Given the description of an element on the screen output the (x, y) to click on. 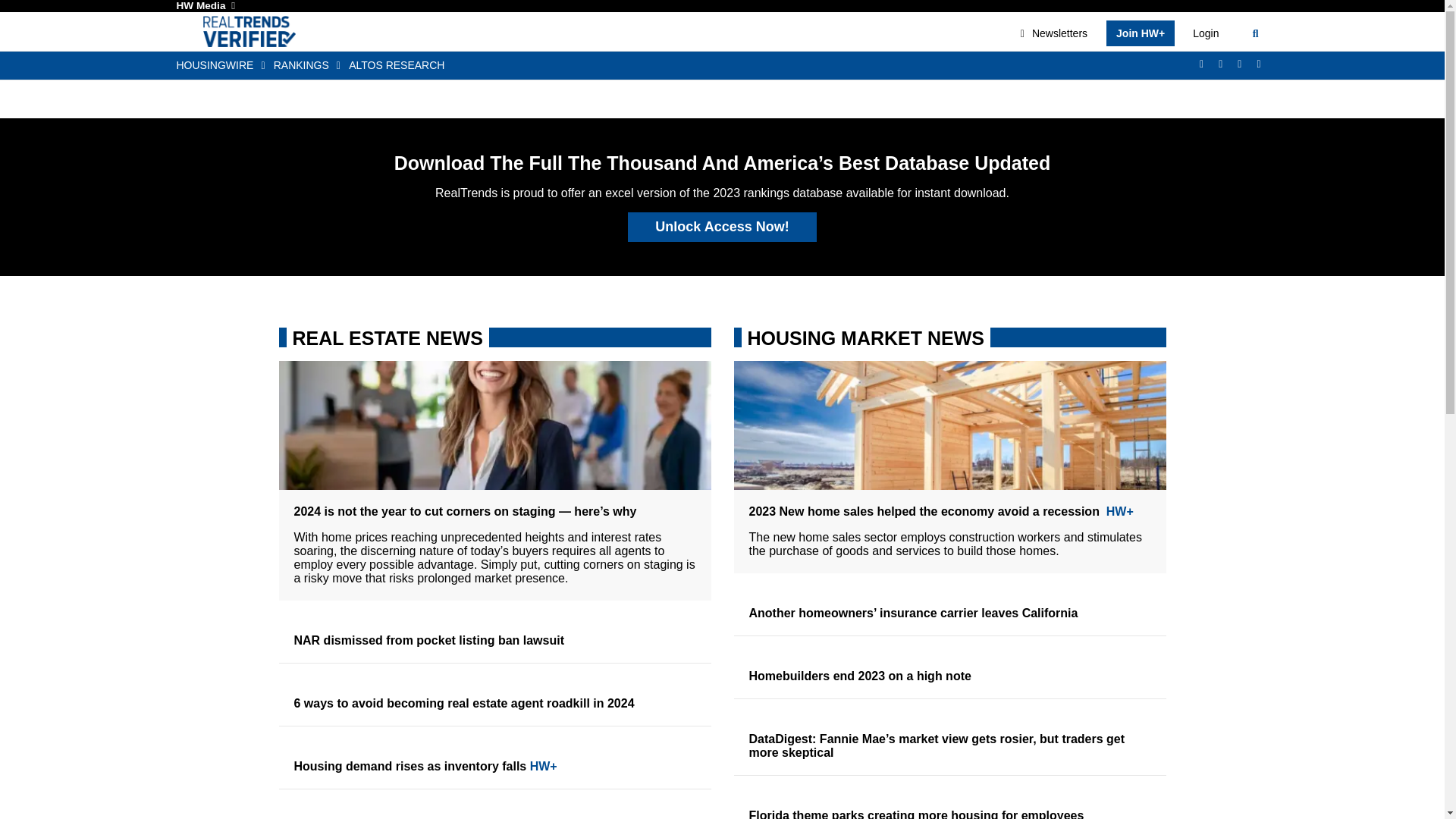
HOUSINGWIRE (224, 65)
Login (1205, 33)
Newsletters (1053, 33)
